Given the description of an element on the screen output the (x, y) to click on. 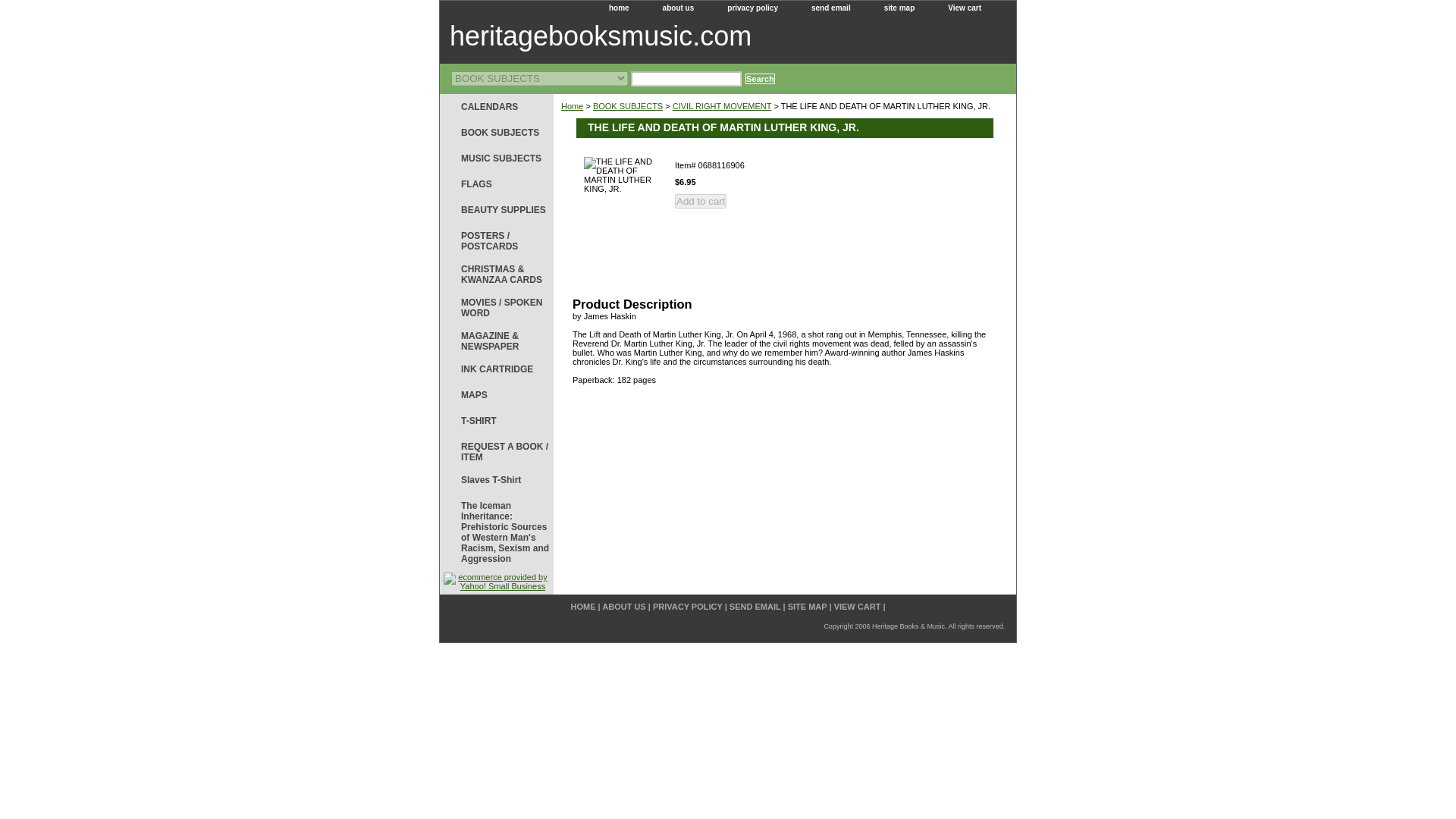
site map (899, 8)
THE LIFE AND DEATH OF MARTIN LUTHER KING, JR. (621, 213)
Home (571, 105)
CIVIL RIGHT MOVEMENT (721, 105)
INK CARTRIDGE (496, 369)
privacy policy (752, 8)
Search (759, 78)
HOME (582, 605)
MUSIC SUBJECTS (496, 158)
MAPS (496, 394)
SEND EMAIL (754, 605)
VIEW CART (857, 605)
heritagebooksmusic.com (628, 38)
BOOK SUBJECTS (627, 105)
Add to cart (700, 201)
